Given the description of an element on the screen output the (x, y) to click on. 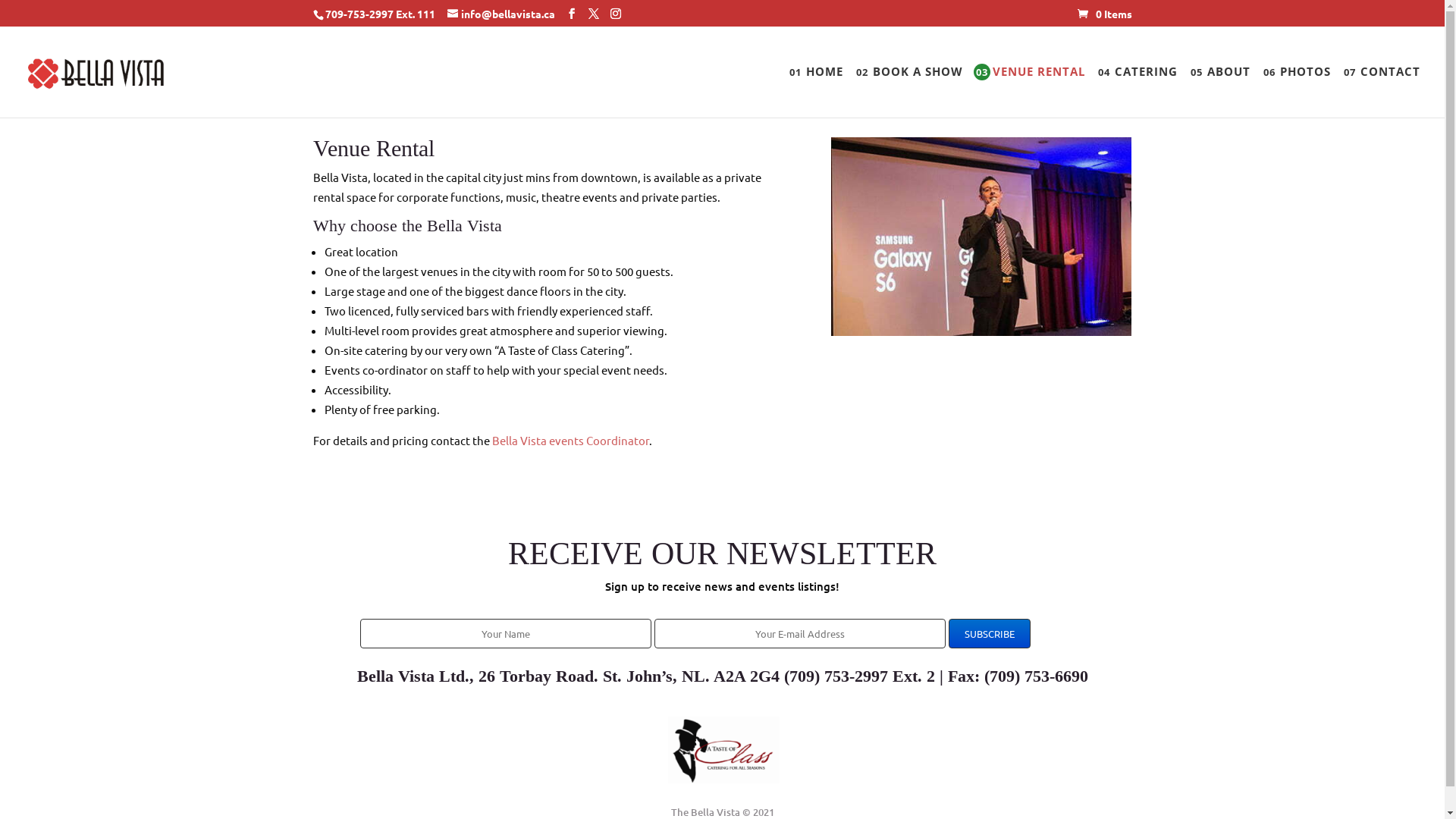
taste_of_class Element type: hover (722, 747)
0 Items Element type: text (1103, 12)
01HOME Element type: text (815, 90)
05ABOUT Element type: text (1219, 90)
02BOOK A SHOW Element type: text (908, 90)
info@bellavista.ca Element type: text (501, 12)
07CONTACT Element type: text (1380, 90)
04CATERING Element type: text (1136, 90)
03VENUE RENTAL Element type: text (1029, 90)
06PHOTOS Element type: text (1295, 90)
corporate_new Element type: hover (981, 236)
Bella Vista events Coordinator Element type: text (569, 440)
Subscribe Element type: text (988, 633)
